Given the description of an element on the screen output the (x, y) to click on. 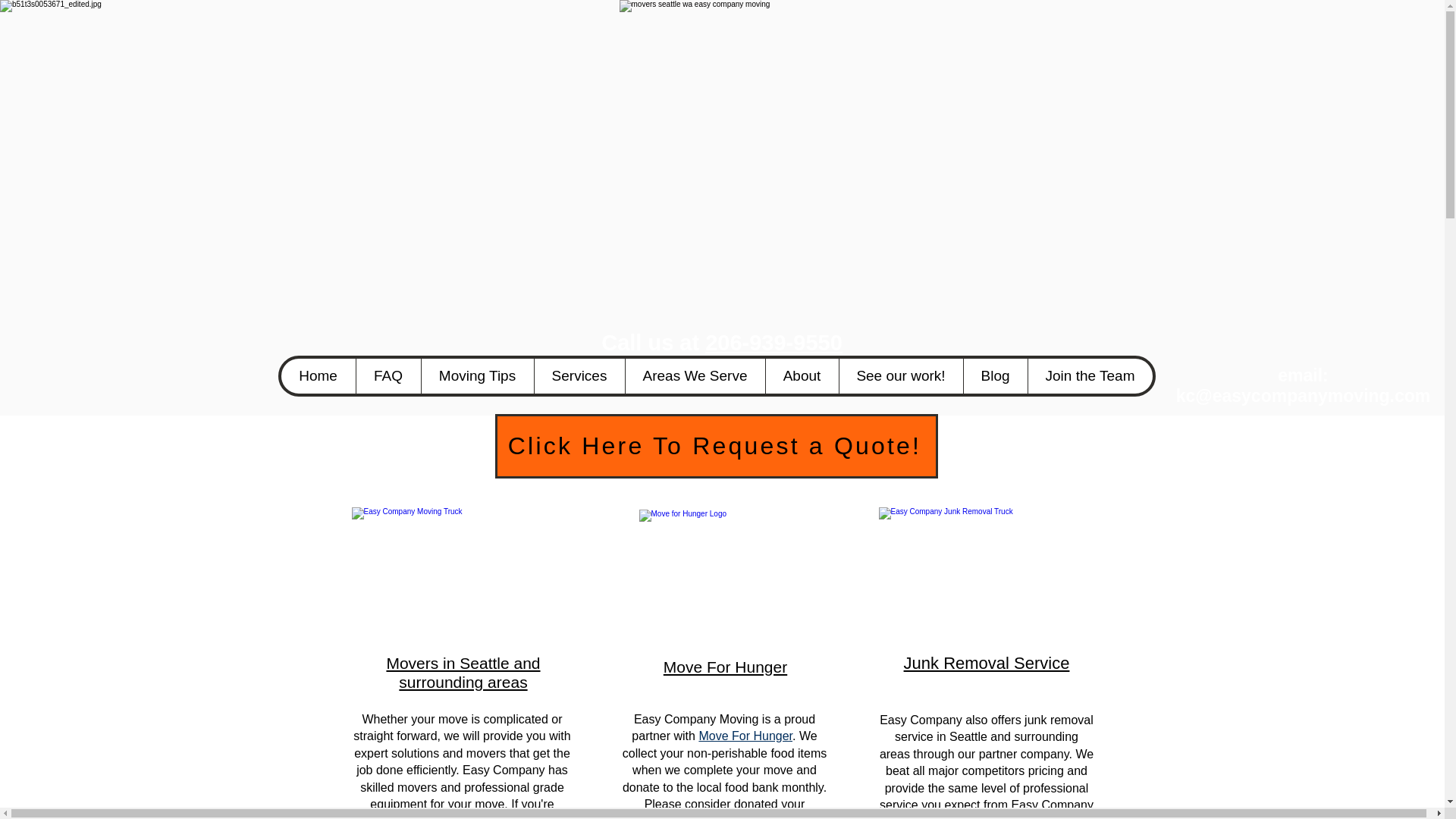
Moving Tips (476, 375)
FAQ (387, 375)
Services (579, 375)
Blog (994, 375)
See our work! (900, 375)
Areas We Serve (694, 375)
Move For Hunger (725, 666)
Join the Team (1088, 375)
Home (318, 375)
